Given the description of an element on the screen output the (x, y) to click on. 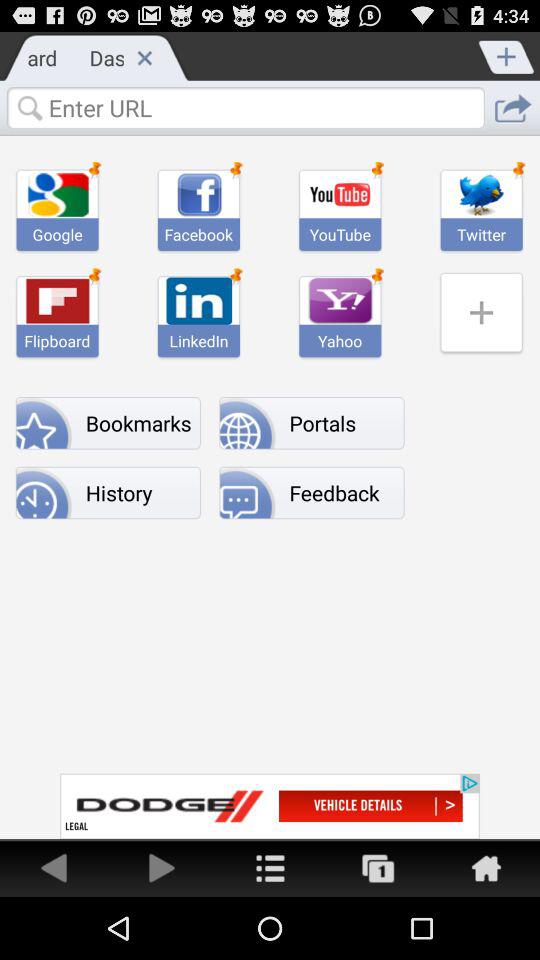
go to home page (486, 867)
